Given the description of an element on the screen output the (x, y) to click on. 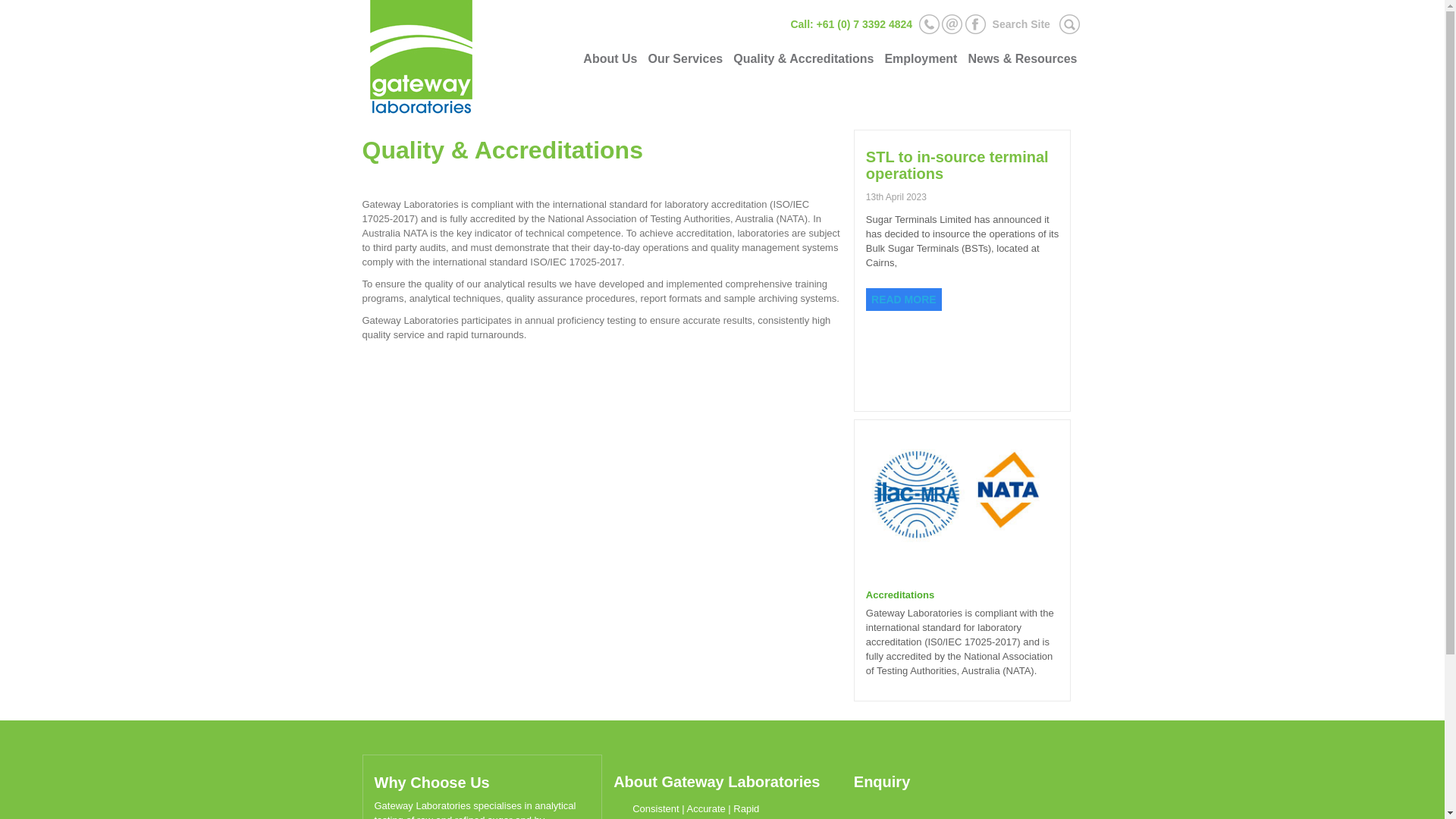
News & Resources Element type: text (1022, 58)
facebook Element type: hover (975, 22)
Our Services Element type: text (685, 58)
About Us Element type: text (609, 58)
READ MORE Element type: text (903, 299)
Quality & Accreditations Element type: text (803, 58)
Accreditations Element type: text (900, 594)
Consistent | Accurate | Rapid Element type: text (686, 808)
STL to in-source terminal operations Element type: text (957, 165)
Call: +61 (0) 7 3392 4824 Element type: text (851, 23)
Employment Element type: text (920, 58)
